Given the description of an element on the screen output the (x, y) to click on. 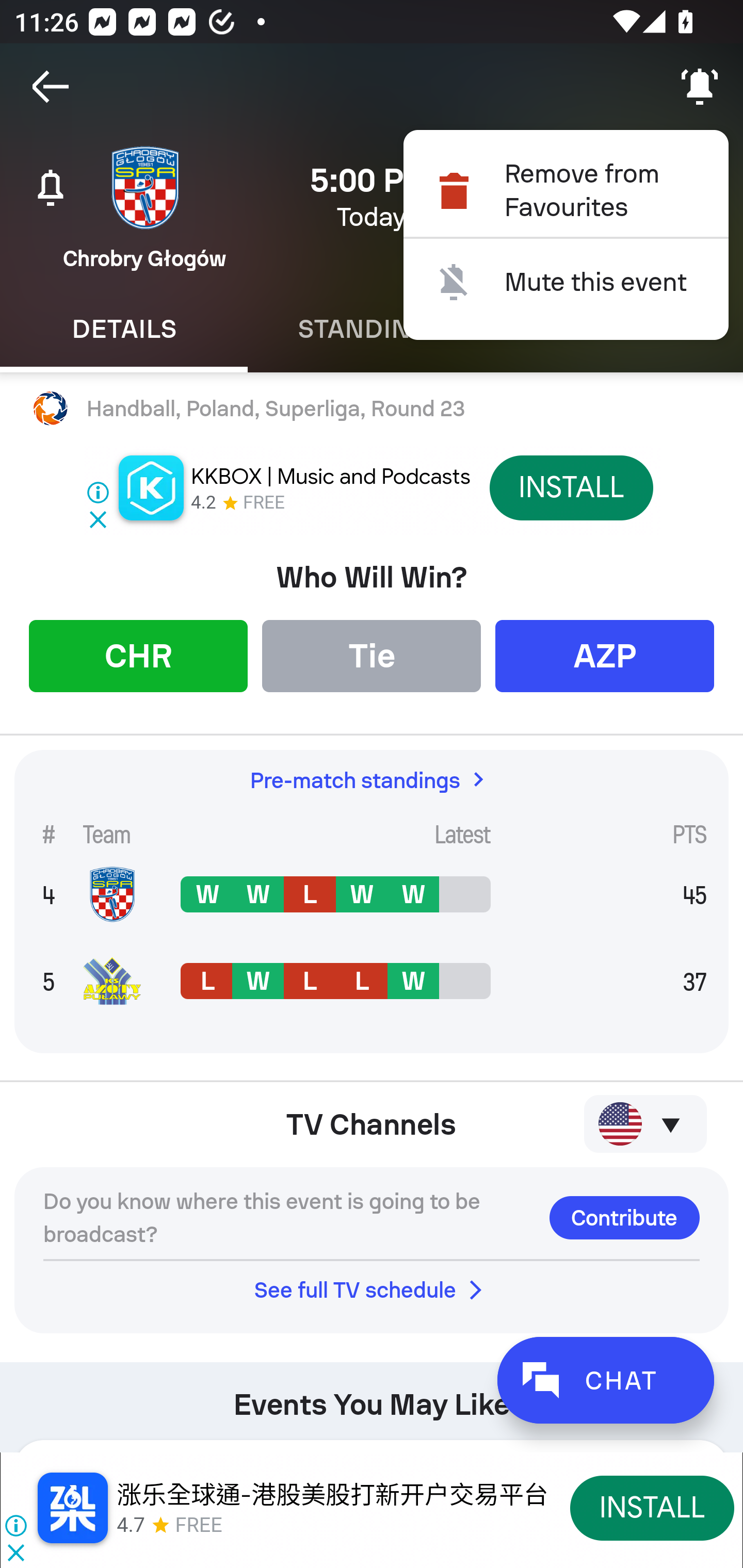
Remove from Favourites (565, 190)
Mute this event (565, 282)
